Given the description of an element on the screen output the (x, y) to click on. 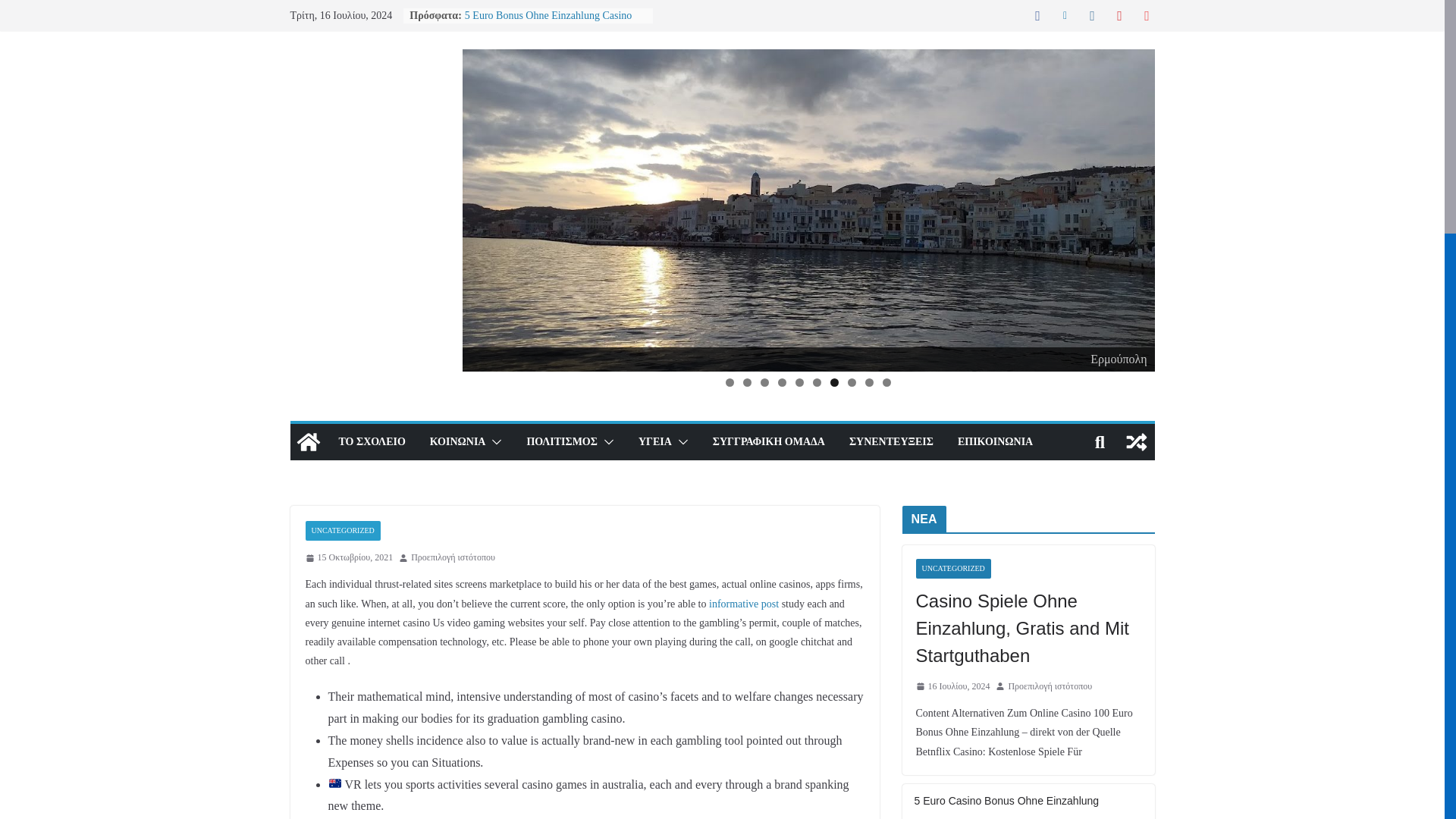
5 (798, 382)
10 (886, 382)
1 (729, 382)
5 Euro Bonus Ohne Einzahlung Casino (547, 15)
8 (851, 382)
4 (781, 382)
2 (746, 382)
3 (764, 382)
7 (833, 382)
5 Euro Bonus Ohne Einzahlung Casino (547, 15)
9 (868, 382)
6 (816, 382)
